Given the description of an element on the screen output the (x, y) to click on. 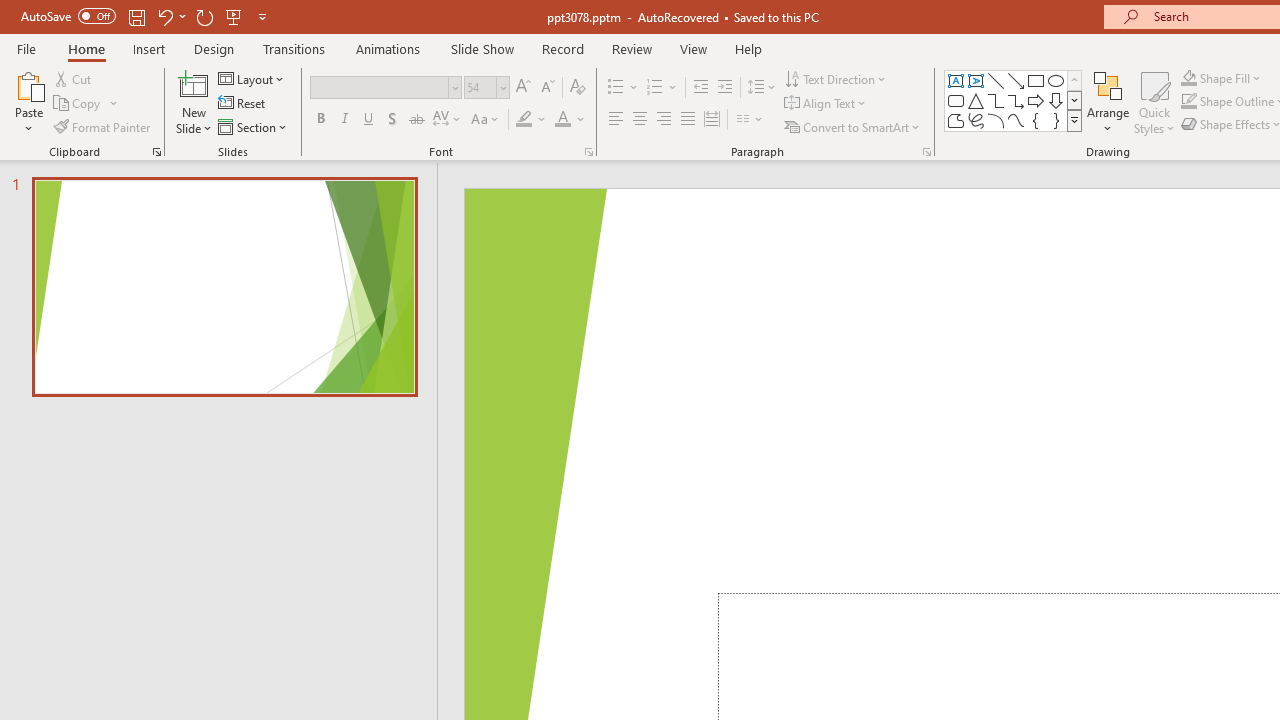
Review (631, 48)
Office Clipboard... (156, 151)
Text Direction (836, 78)
Font (379, 87)
Align Right (663, 119)
Curve (1016, 120)
Distributed (712, 119)
Open (502, 87)
Bold (320, 119)
Freeform: Shape (955, 120)
Line Arrow (1016, 80)
Connector: Elbow Arrow (1016, 100)
Quick Styles (1154, 102)
Decrease Indent (700, 87)
